Given the description of an element on the screen output the (x, y) to click on. 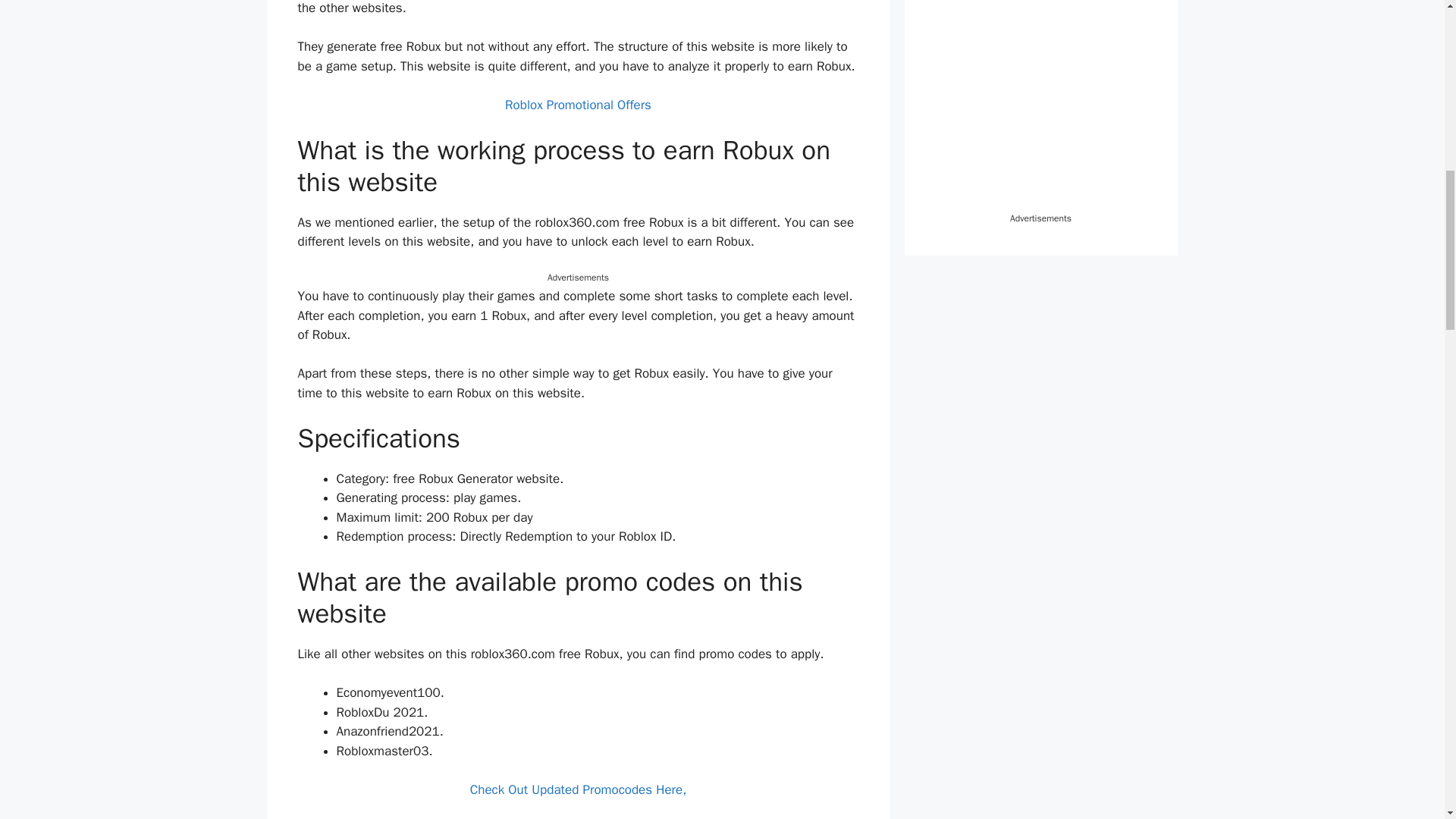
Roblox Promotional Offers (577, 105)
Advertisement (1040, 105)
Check Out Updated Promocodes Here, (578, 789)
